Given the description of an element on the screen output the (x, y) to click on. 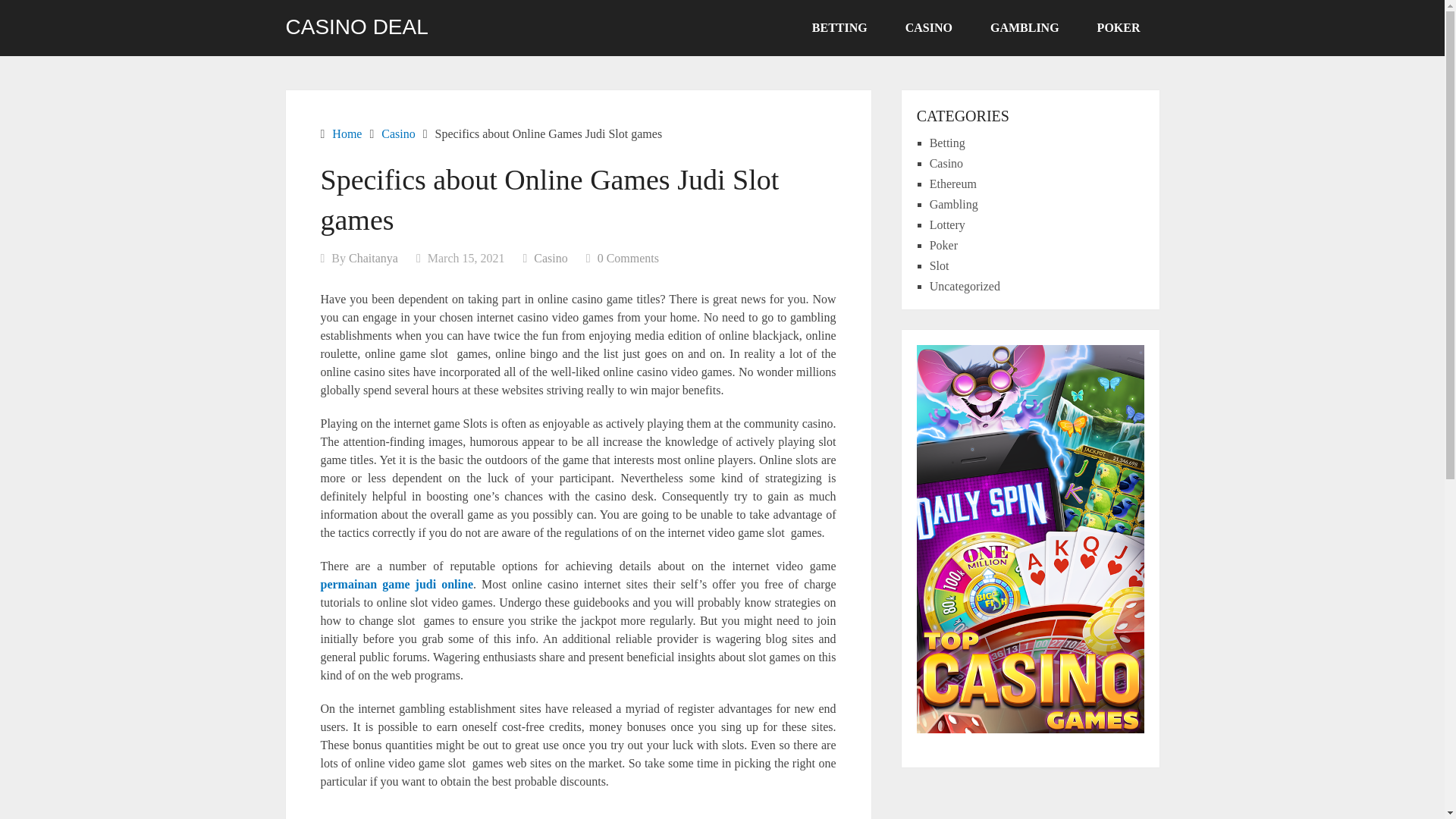
Chaitanya (373, 257)
CASINO DEAL (356, 26)
0 Comments (627, 257)
Casino (550, 257)
Ethereum (953, 183)
Gambling (954, 204)
BETTING (839, 28)
Home (346, 133)
Casino (397, 133)
Posts by Chaitanya (373, 257)
Slot (939, 265)
CASINO (928, 28)
Lottery (947, 224)
GAMBLING (1024, 28)
permainan game judi online (396, 584)
